Given the description of an element on the screen output the (x, y) to click on. 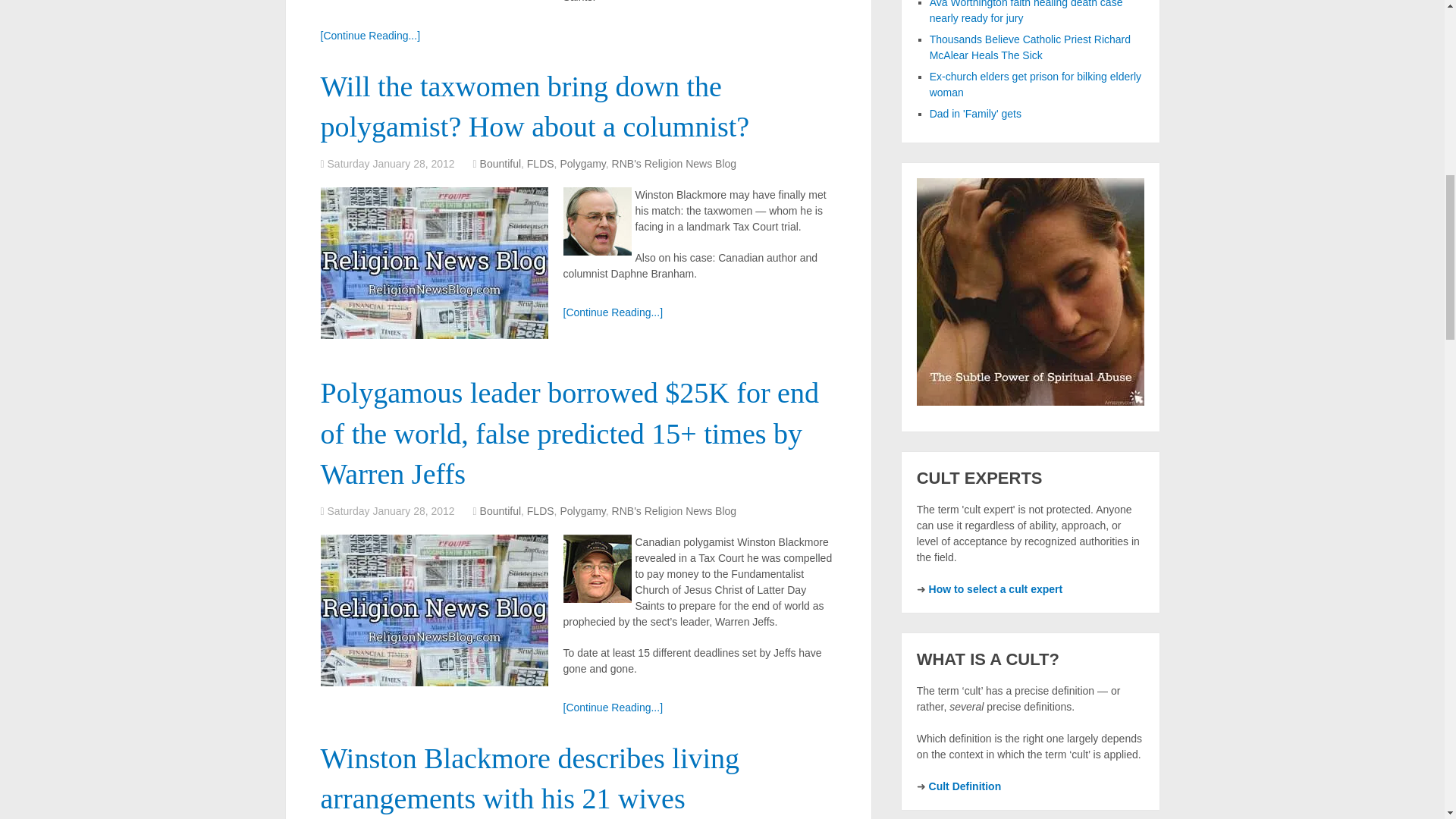
FLDS (540, 163)
Bountiful (500, 163)
RNB's Religion News Blog (673, 163)
Bountiful (500, 510)
FLDS (540, 510)
Polygamy (582, 163)
